Given the description of an element on the screen output the (x, y) to click on. 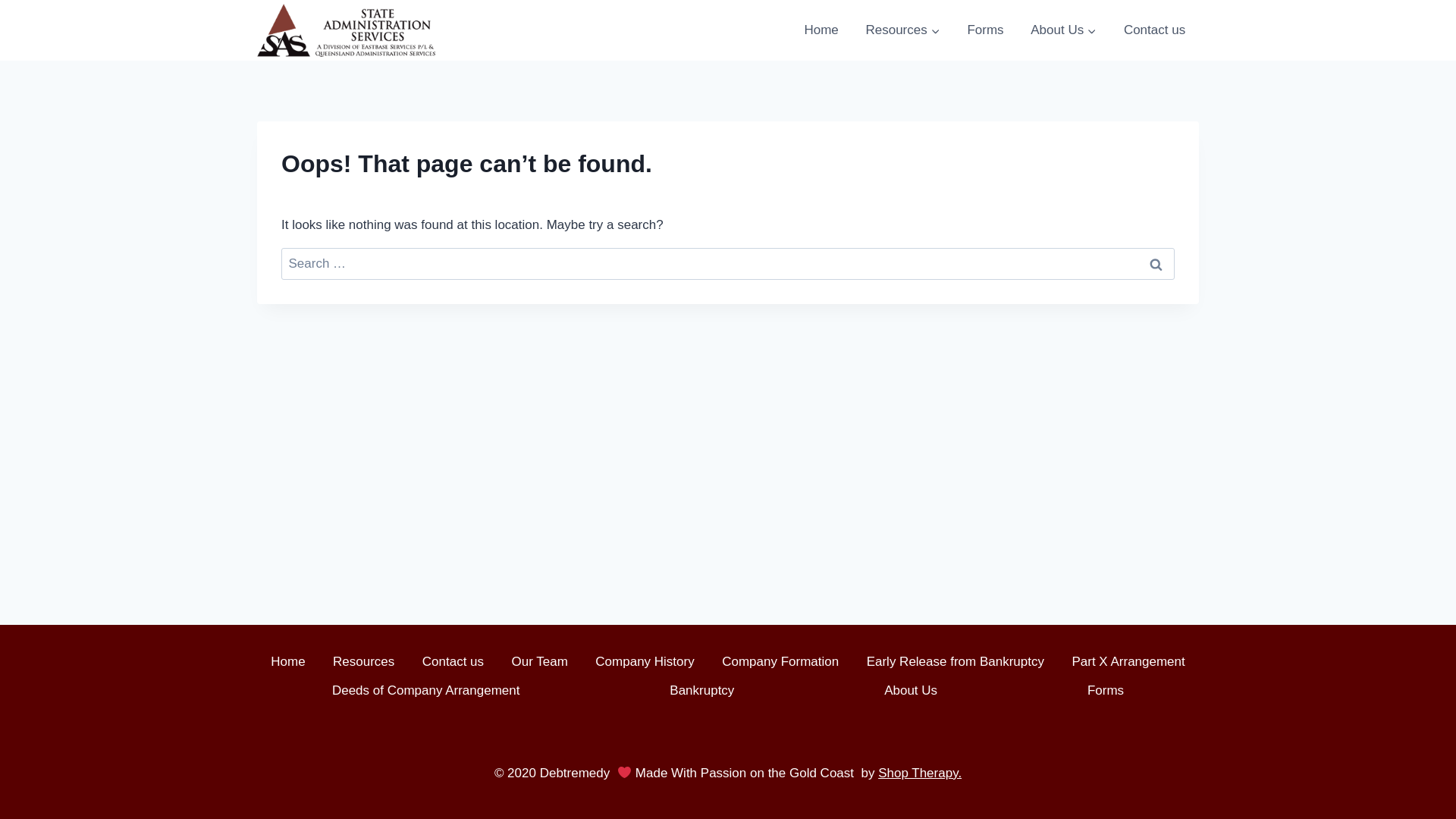
Home Element type: text (821, 30)
Early Release from Bankruptcy Element type: text (954, 661)
Shop Therapy. Element type: text (919, 772)
About Us Element type: text (1063, 30)
Deeds of Company Arrangement Element type: text (425, 689)
Resources Element type: text (902, 30)
Contact us Element type: text (453, 661)
Forms Element type: text (1105, 689)
Forms Element type: text (985, 30)
About Us Element type: text (910, 689)
Part X Arrangement Element type: text (1127, 661)
Company History Element type: text (644, 661)
Company Formation Element type: text (780, 661)
Home Element type: text (288, 661)
Search Element type: text (1155, 263)
Contact us Element type: text (1154, 30)
Resources Element type: text (363, 661)
Bankruptcy Element type: text (701, 689)
Our Team Element type: text (539, 661)
